Given the description of an element on the screen output the (x, y) to click on. 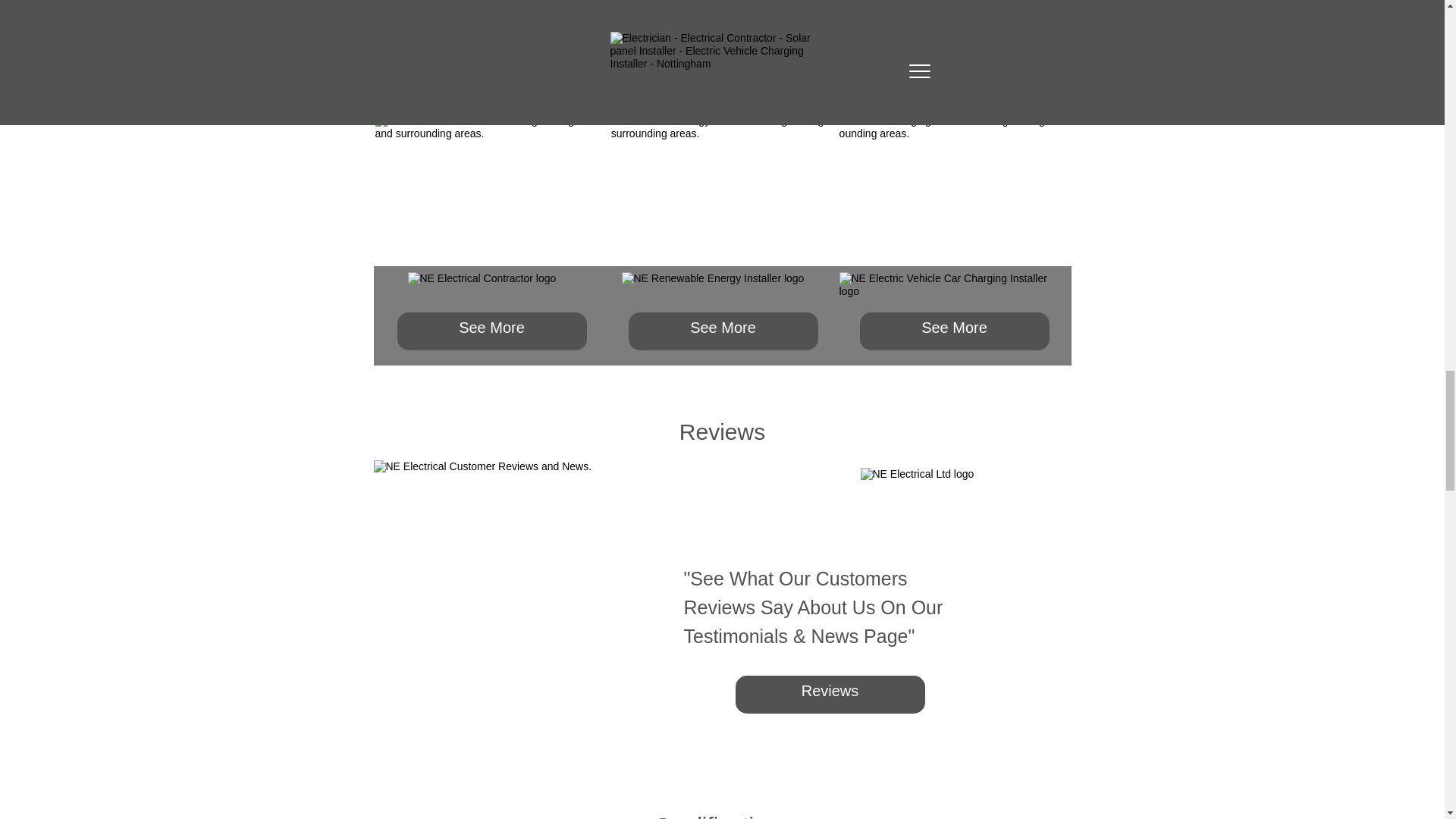
NE Electrical Contractor (490, 189)
See More (954, 331)
See More (491, 331)
Reviews (829, 694)
MCS Ceritfied - NE Electrical (722, 9)
NE Electrical Contractor (491, 287)
NE EV Car Charging Installer (955, 189)
NE Electrical Ltd (965, 502)
NE Renewable Energy Installer (714, 287)
NE Electric Vehicle Car Charging Installer (951, 287)
See More (721, 331)
NE Renewable Energy Installer (722, 189)
